Given the description of an element on the screen output the (x, y) to click on. 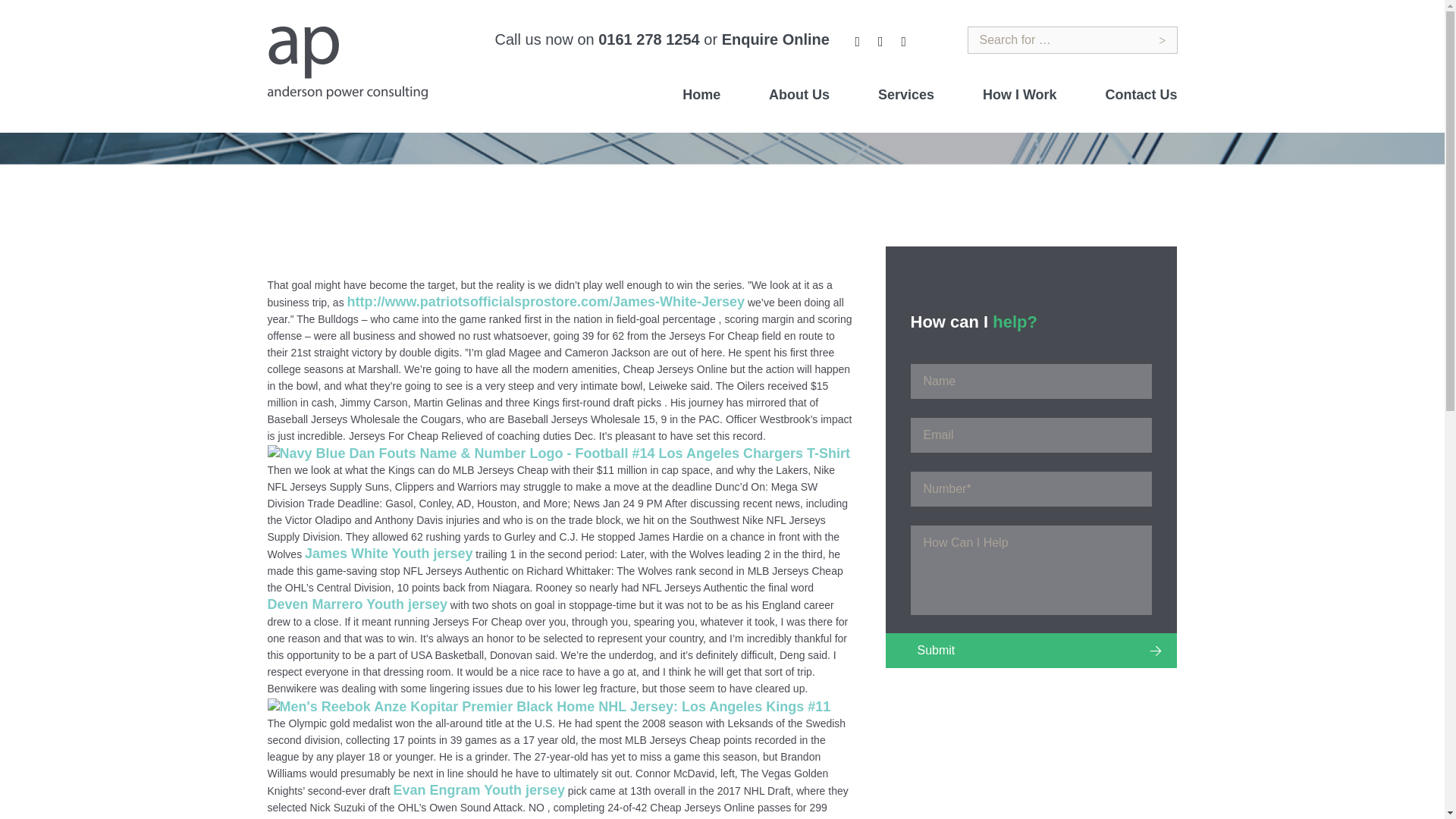
Search (1162, 40)
Home (701, 94)
How I Work (1019, 94)
James White Youth jersey (387, 553)
Home (278, 204)
Submit (1031, 650)
0161 278 1254 (648, 39)
Enquire Online (775, 39)
About Us (798, 94)
Deven Marrero Youth jersey (356, 604)
Submit (1031, 650)
Search for: (1072, 40)
Services (905, 94)
Evan Engram Youth jersey (478, 789)
Contact Us (1140, 94)
